Given the description of an element on the screen output the (x, y) to click on. 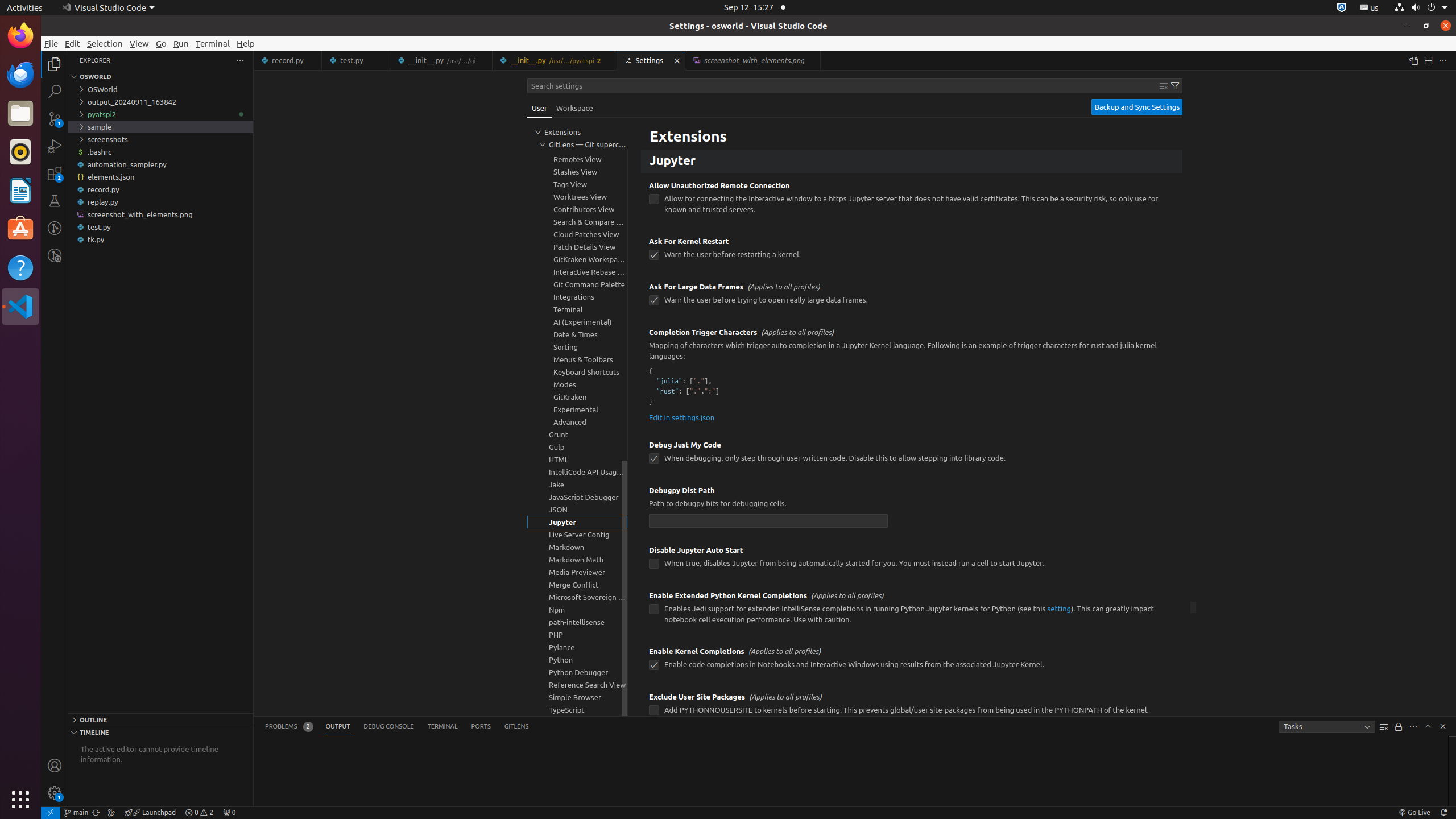
Npm, group Element type: tree-item (577, 609)
Stashes View, group Element type: tree-item (577, 171)
setting Element type: link (1059, 608)
Modes, group Element type: tree-item (577, 384)
Split Editor Right (Ctrl+\) [Alt] Split Editor Down Element type: push-button (1427, 60)
